Given the description of an element on the screen output the (x, y) to click on. 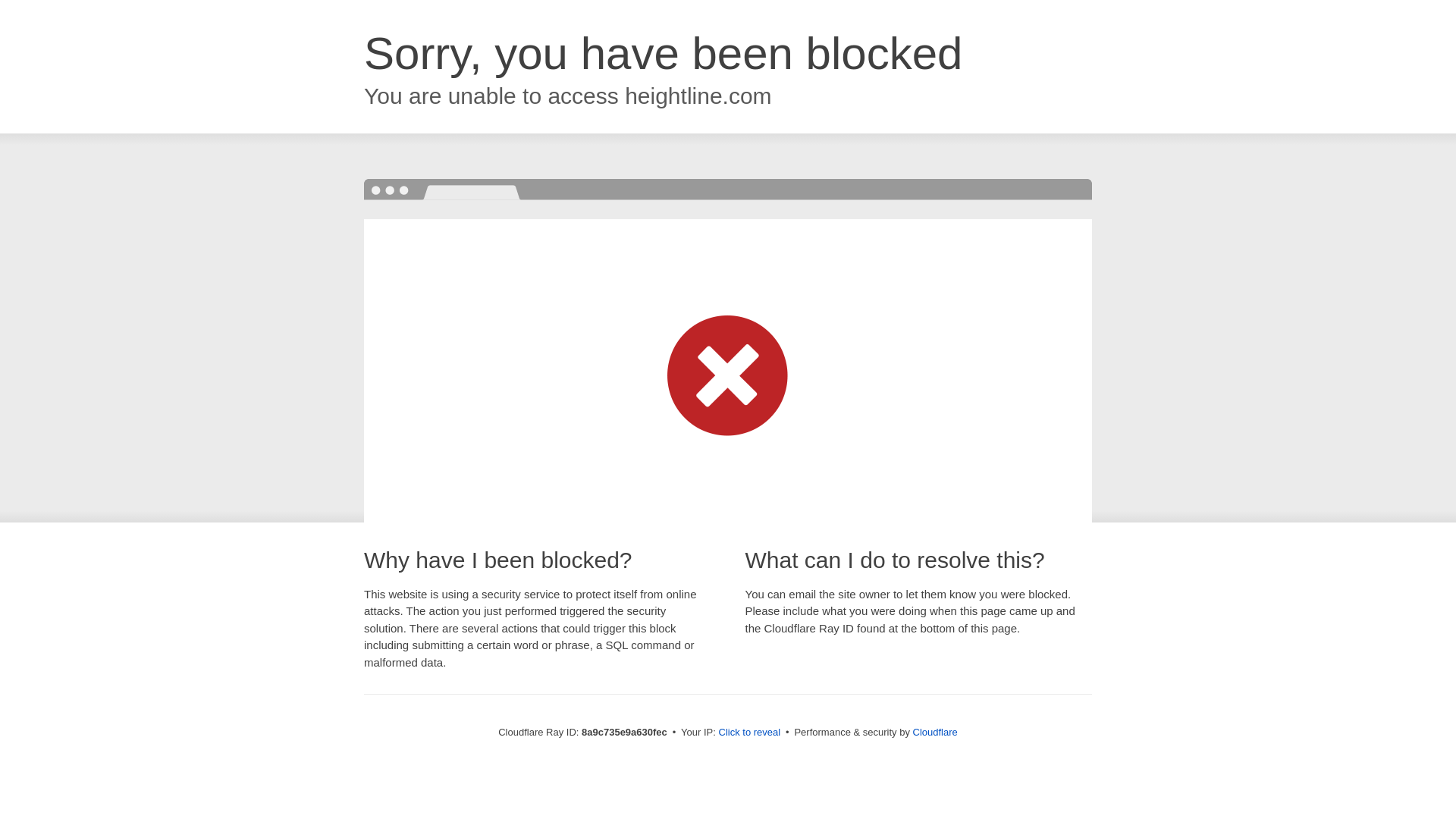
Click to reveal (749, 732)
Cloudflare (935, 731)
